Given the description of an element on the screen output the (x, y) to click on. 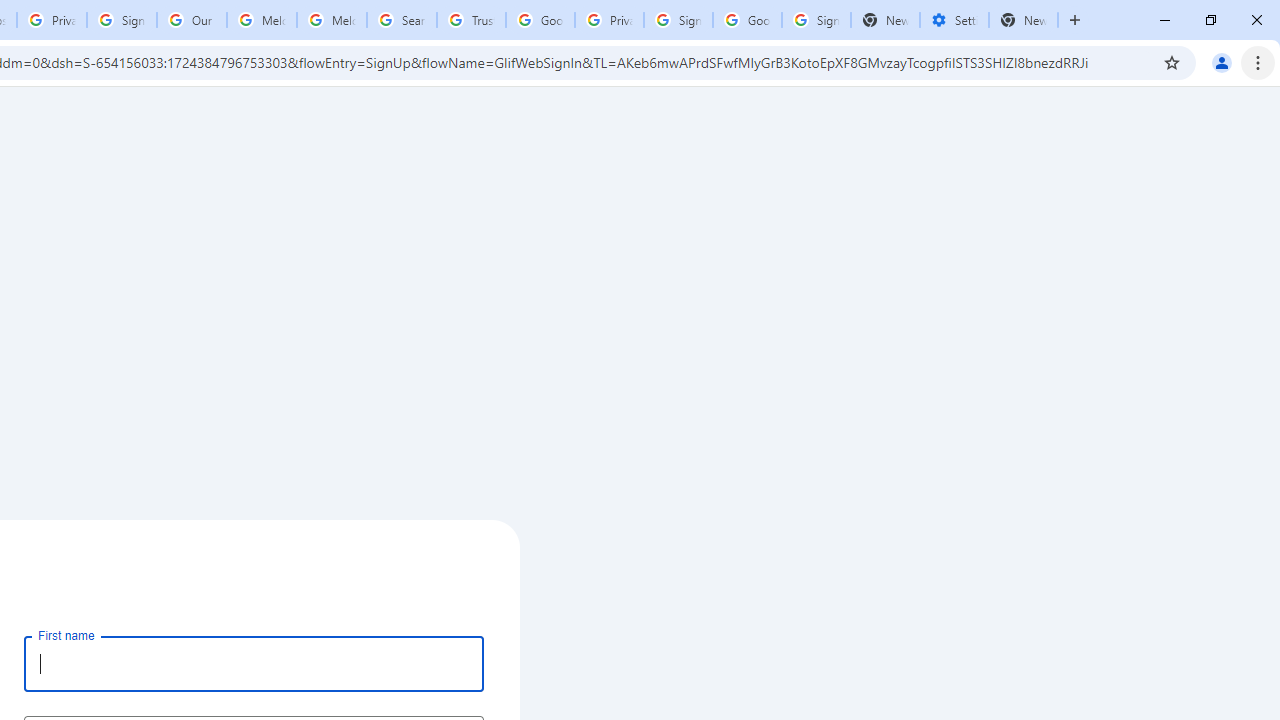
New Tab (1023, 20)
First name (253, 663)
Settings - Addresses and more (954, 20)
Sign in - Google Accounts (122, 20)
Trusted Information and Content - Google Safety Center (470, 20)
Sign in - Google Accounts (816, 20)
